Given the description of an element on the screen output the (x, y) to click on. 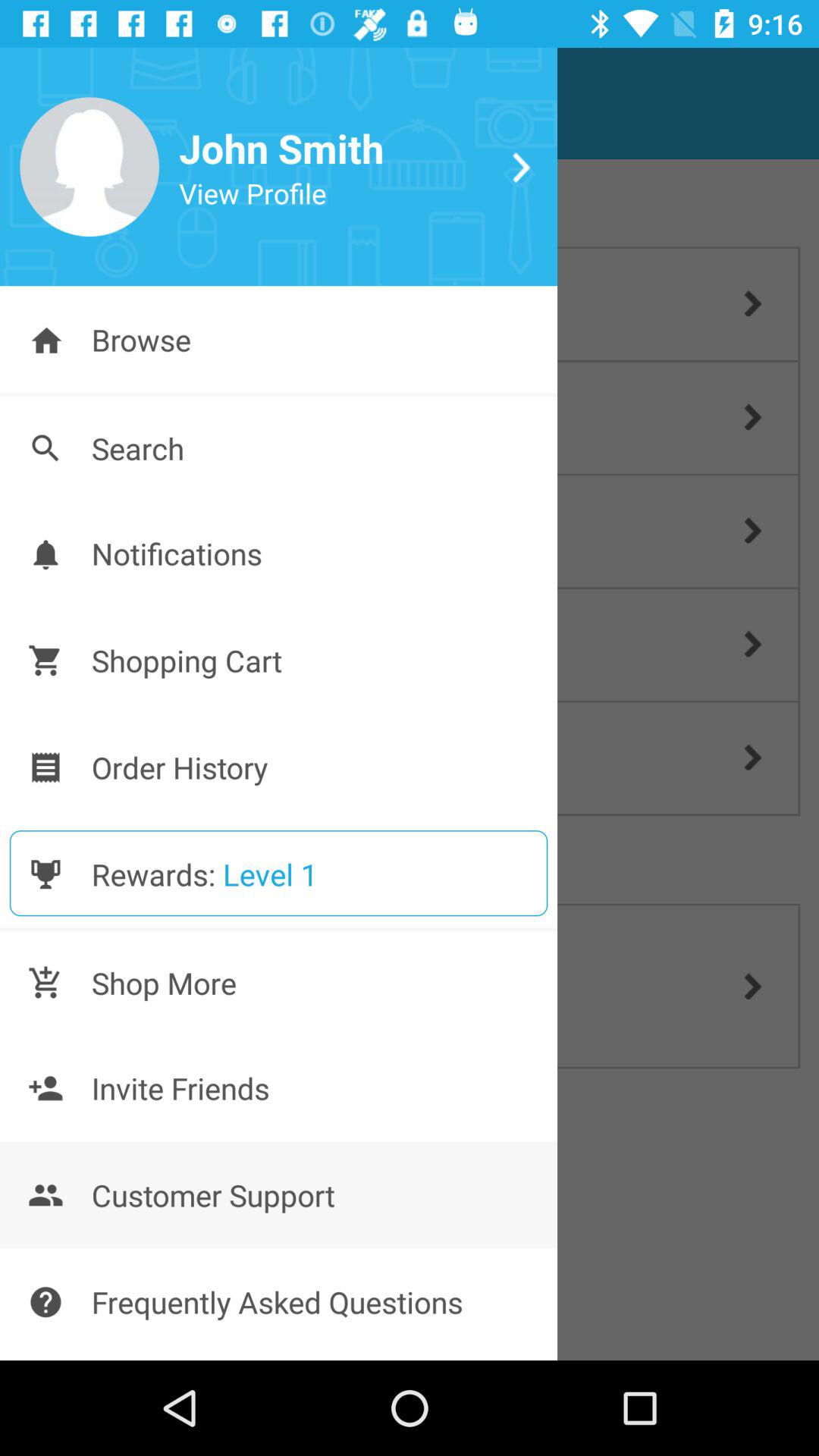
select the profile icon which is above browse (88, 166)
select cart icon which is before shopping cart on the page (45, 659)
click on the trophy icon which is on the left side of rewards level 1 (45, 873)
click on the home image option to the left of the text browse (45, 339)
click on invite friends icon (45, 1087)
